Given the description of an element on the screen output the (x, y) to click on. 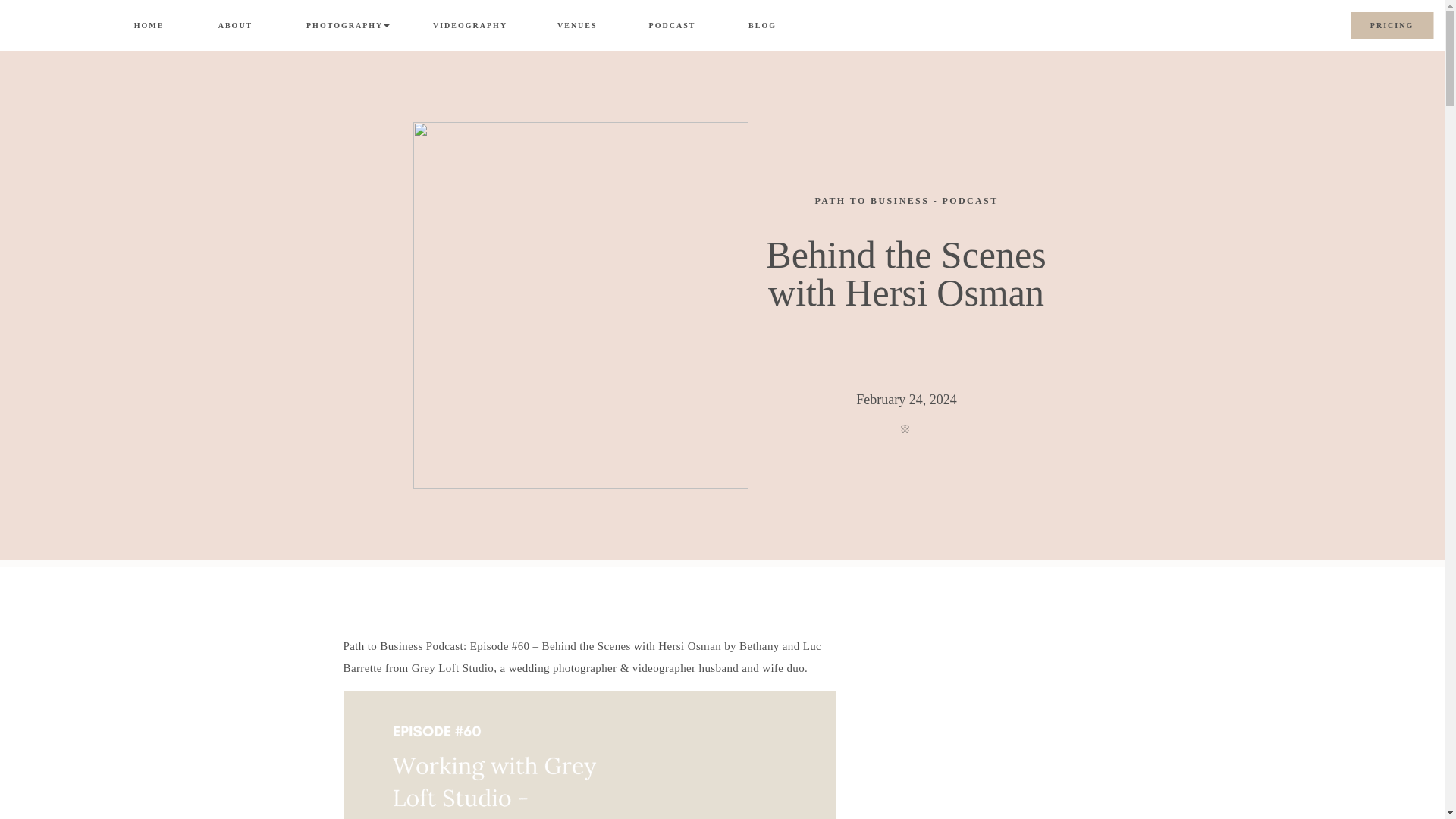
ABOUT (234, 25)
HOME (148, 26)
PHOTOGRAPHY (342, 26)
